Given the description of an element on the screen output the (x, y) to click on. 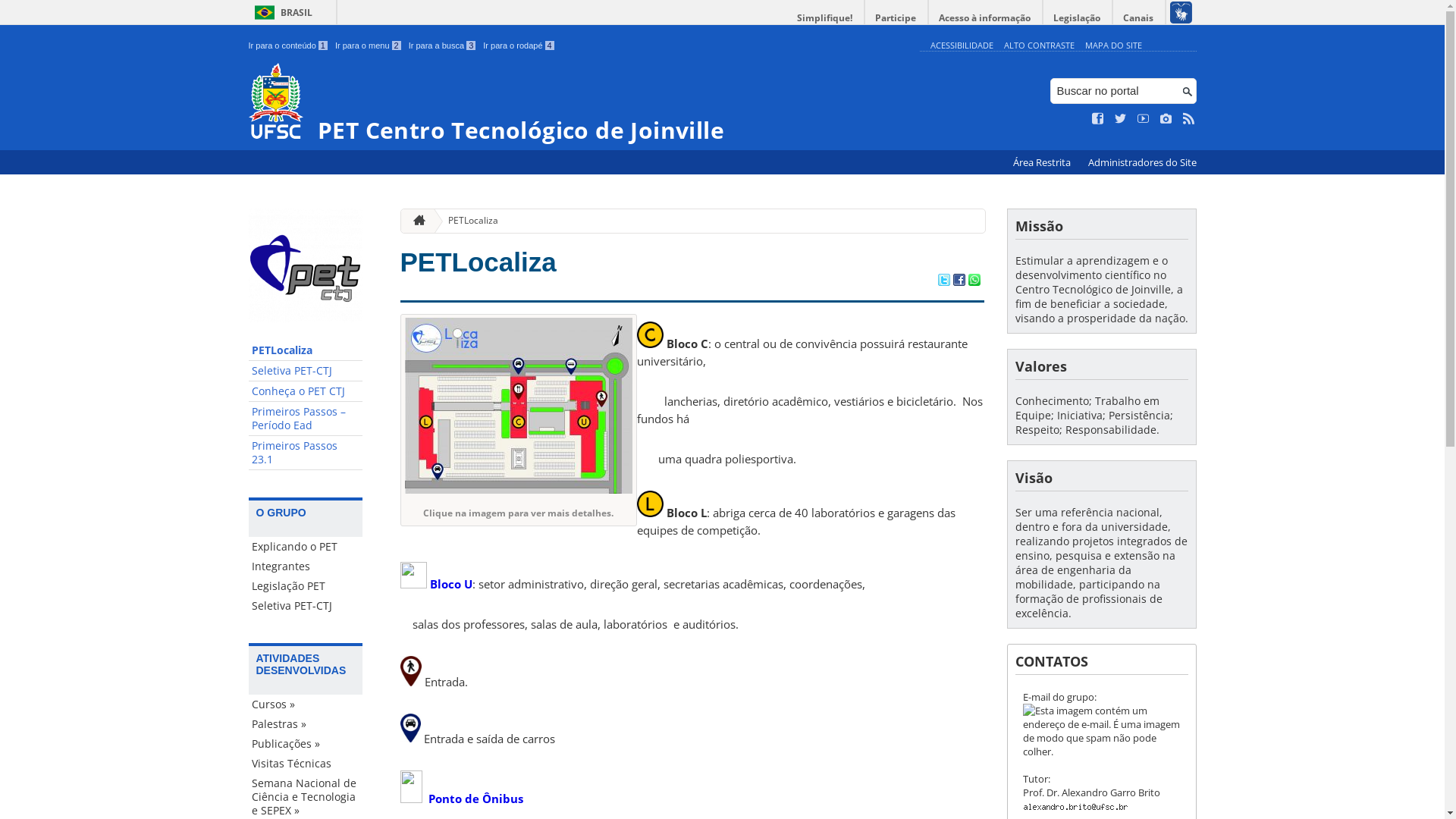
PETLocaliza Element type: text (478, 261)
Participe Element type: text (895, 18)
Seletiva PET-CTJ Element type: text (305, 605)
Curta no Facebook Element type: hover (1098, 118)
Veja no Instagram Element type: hover (1166, 118)
Canais Element type: text (1138, 18)
Seletiva PET-CTJ Element type: text (305, 370)
PETLocaliza Element type: text (466, 220)
Integrantes Element type: text (305, 566)
Ir para a busca 3 Element type: text (442, 45)
Primeiros Passos 23.1 Element type: text (305, 453)
Administradores do Site Element type: text (1141, 162)
Simplifique! Element type: text (825, 18)
MAPA DO SITE Element type: text (1112, 44)
Siga no Twitter Element type: hover (1120, 118)
Compartilhar no WhatsApp Element type: hover (973, 280)
Bloco U Element type: text (450, 583)
PETLocaliza Element type: text (305, 350)
BRASIL Element type: text (280, 12)
Compartilhar no Facebook Element type: hover (958, 280)
Compartilhar no Twitter Element type: hover (943, 280)
Ir para o menu 2 Element type: text (368, 45)
ACESSIBILIDADE Element type: text (960, 44)
Explicando o PET Element type: text (305, 546)
ALTO CONTRASTE Element type: text (1039, 44)
